Given the description of an element on the screen output the (x, y) to click on. 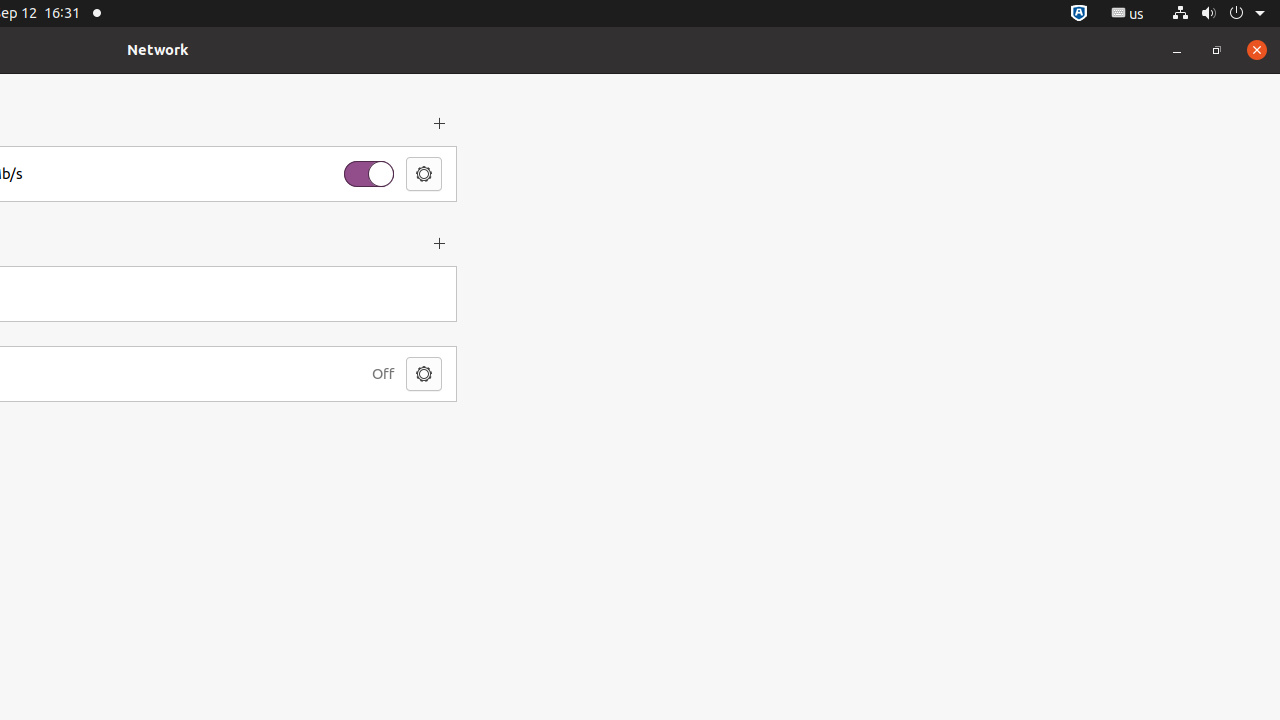
Options… Element type: push-button (424, 174)
Off Element type: label (383, 374)
Close Element type: push-button (1257, 50)
